Given the description of an element on the screen output the (x, y) to click on. 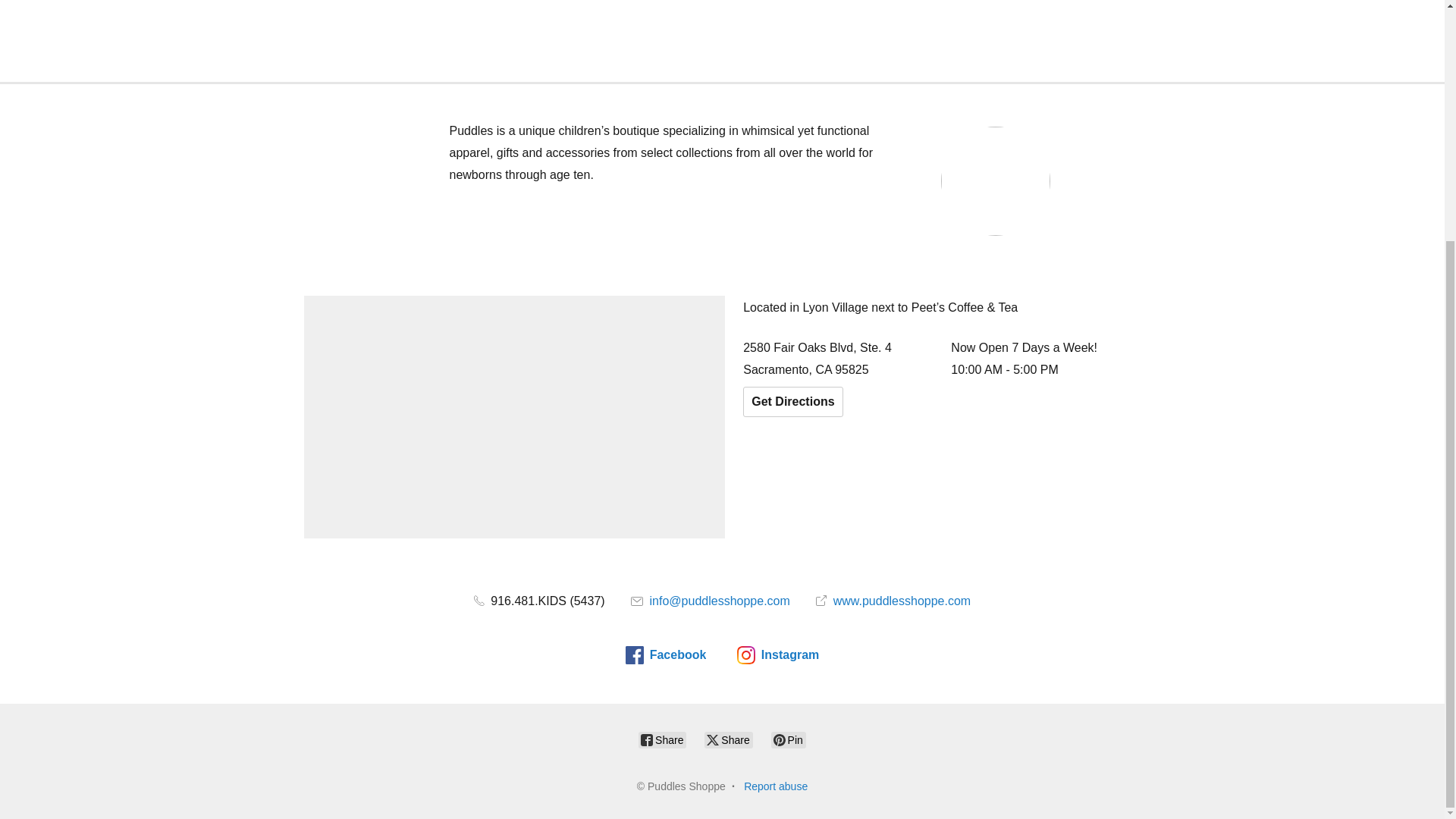
Get Directions (792, 401)
Report abuse (776, 786)
Facebook (666, 655)
Pin (788, 740)
Instagram (777, 655)
Share (728, 740)
Location on map (513, 416)
Share (662, 740)
www.puddlesshoppe.com (893, 600)
